Given the description of an element on the screen output the (x, y) to click on. 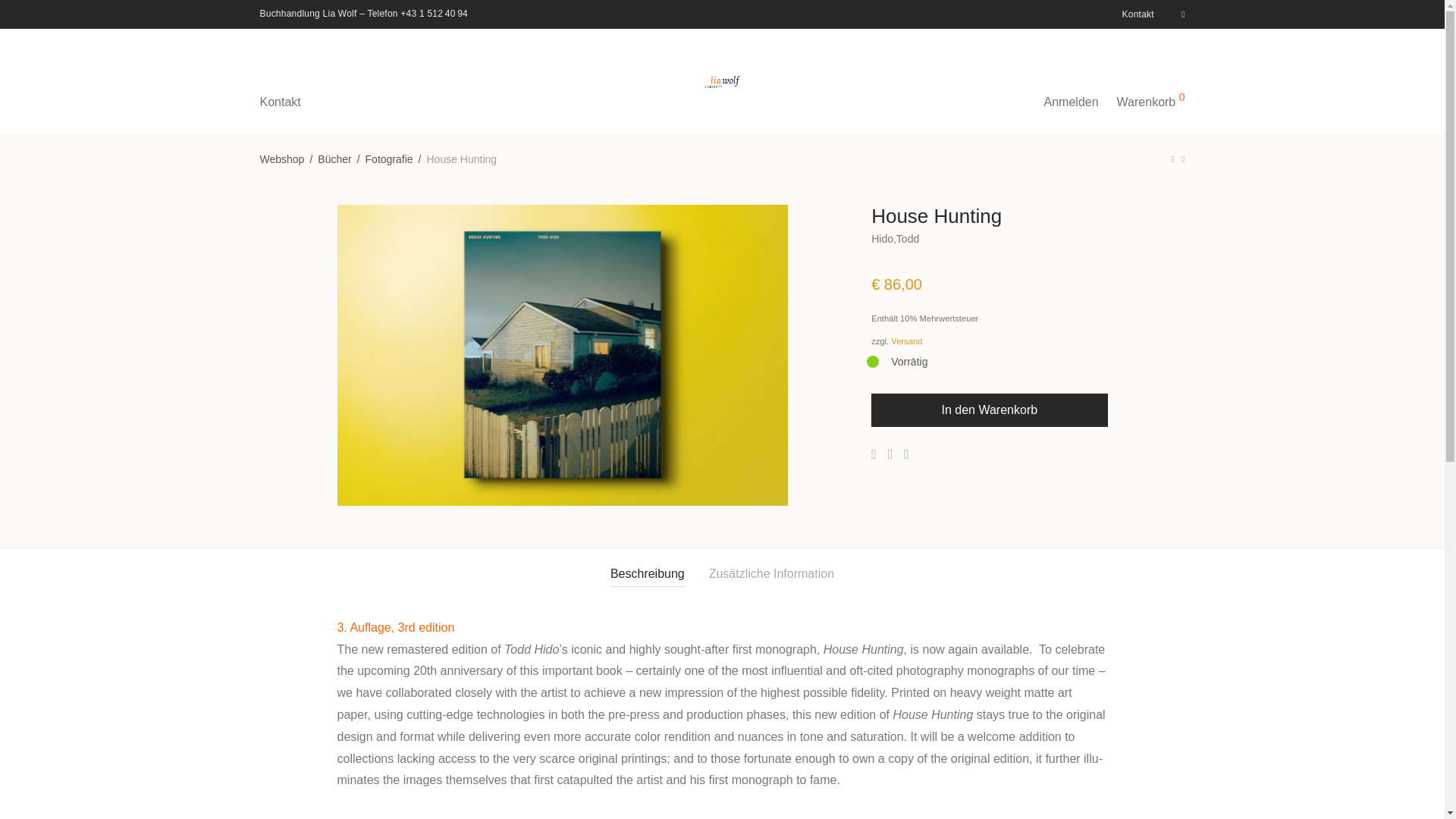
Beschreibung (647, 574)
Webshop (281, 158)
Warenkorb 0 (1150, 80)
In den Warenkorb (988, 409)
Fotografie (389, 158)
Anmelden (1071, 80)
Versand (906, 340)
Kontakt (1134, 13)
Buchhandlung Lia Wolf (307, 13)
